Given the description of an element on the screen output the (x, y) to click on. 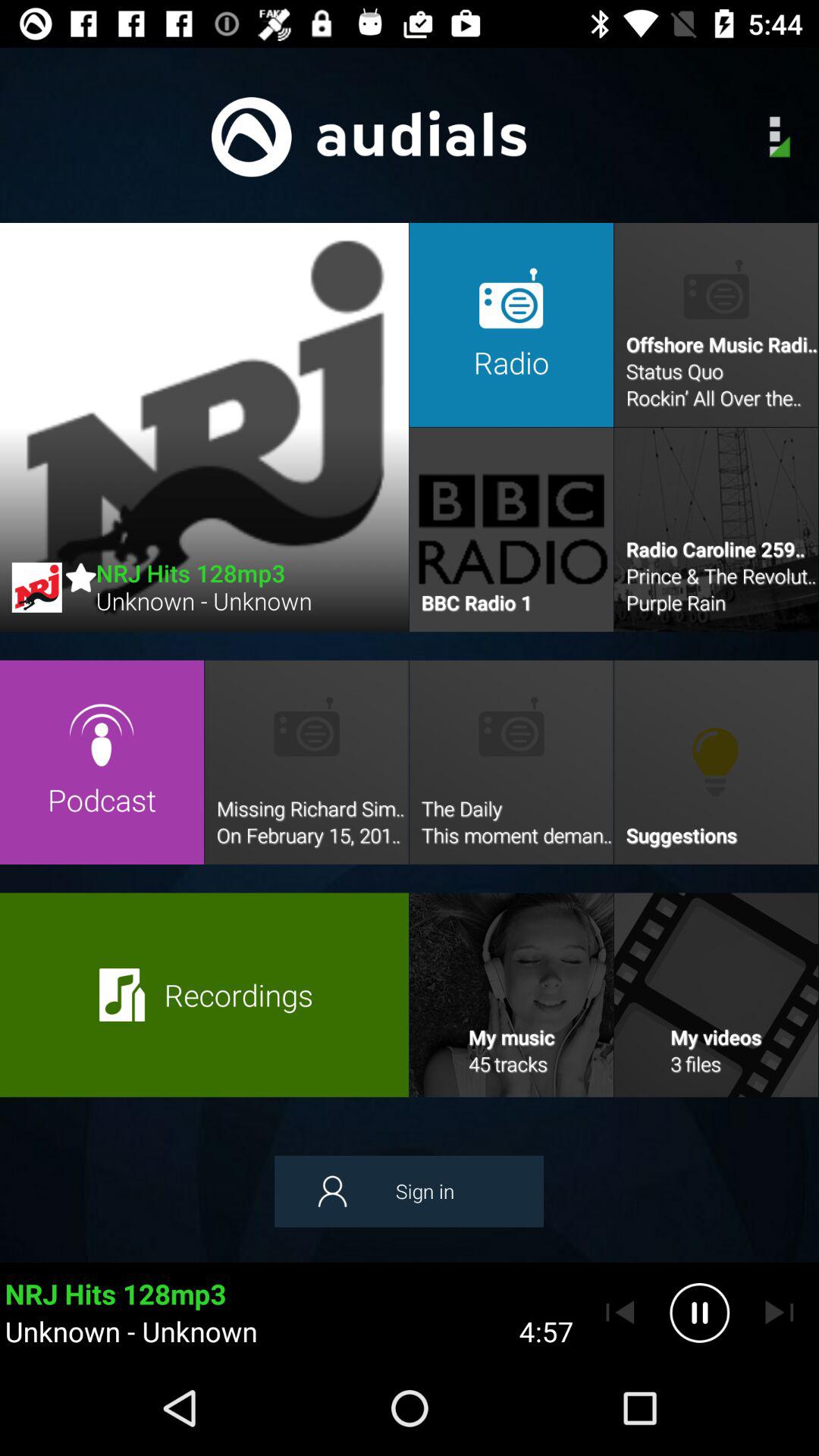
previous page (619, 1312)
